Given the description of an element on the screen output the (x, y) to click on. 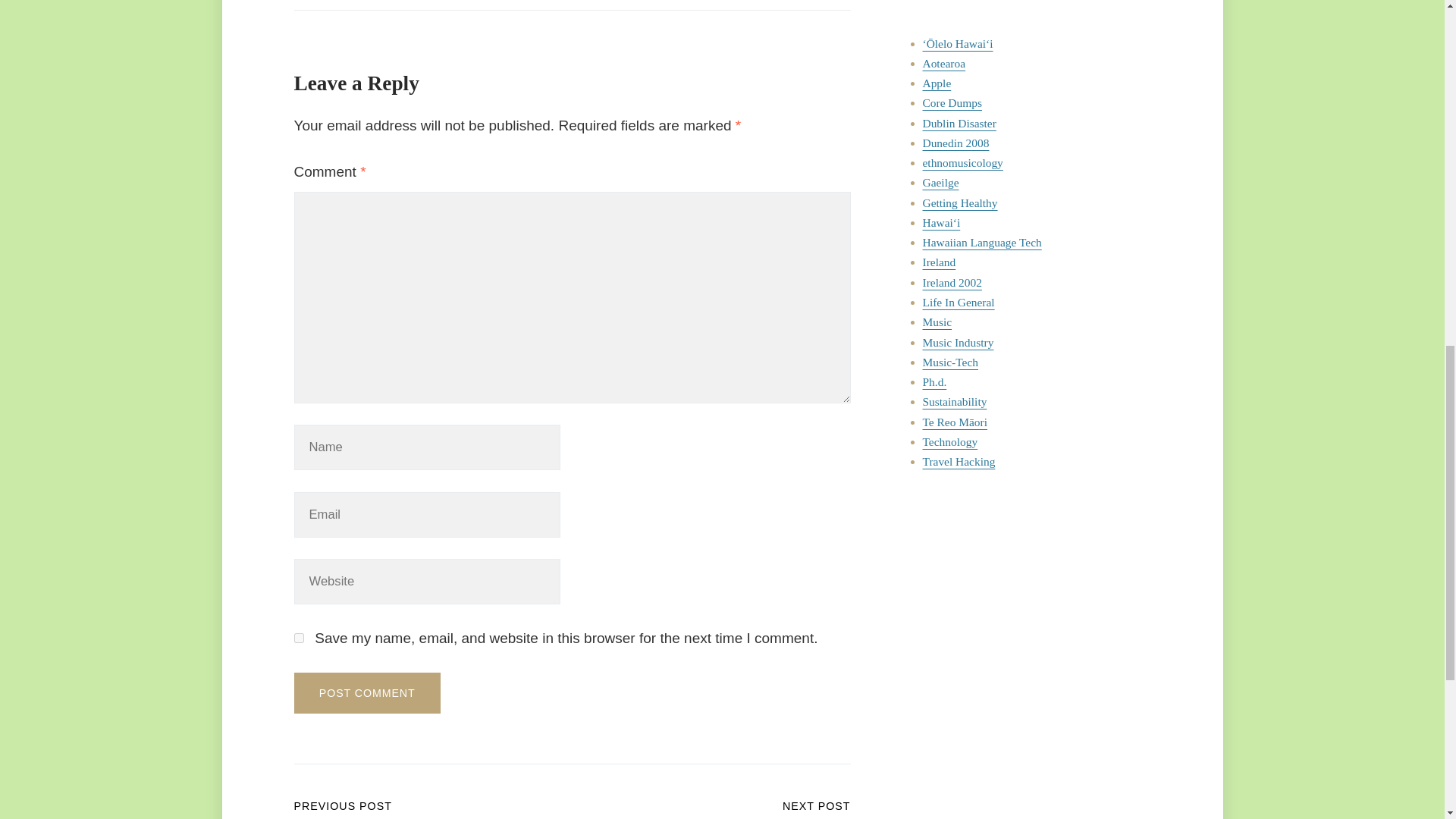
yes (299, 637)
Post Comment (367, 692)
